Given the description of an element on the screen output the (x, y) to click on. 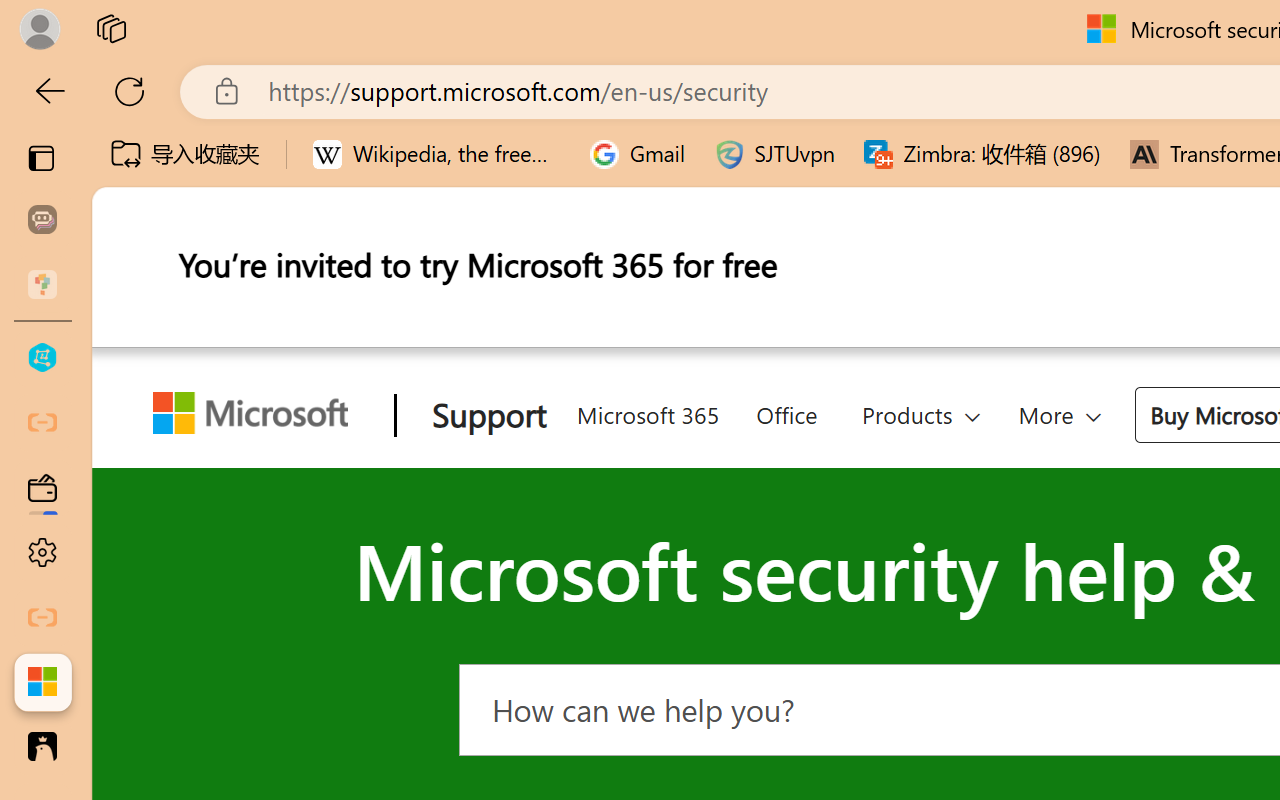
More (1060, 413)
Microsoft security help and learning (42, 681)
Microsoft 365 (646, 411)
wangyian_dsw - DSW (42, 357)
Gmail (637, 154)
Office (785, 411)
